Given the description of an element on the screen output the (x, y) to click on. 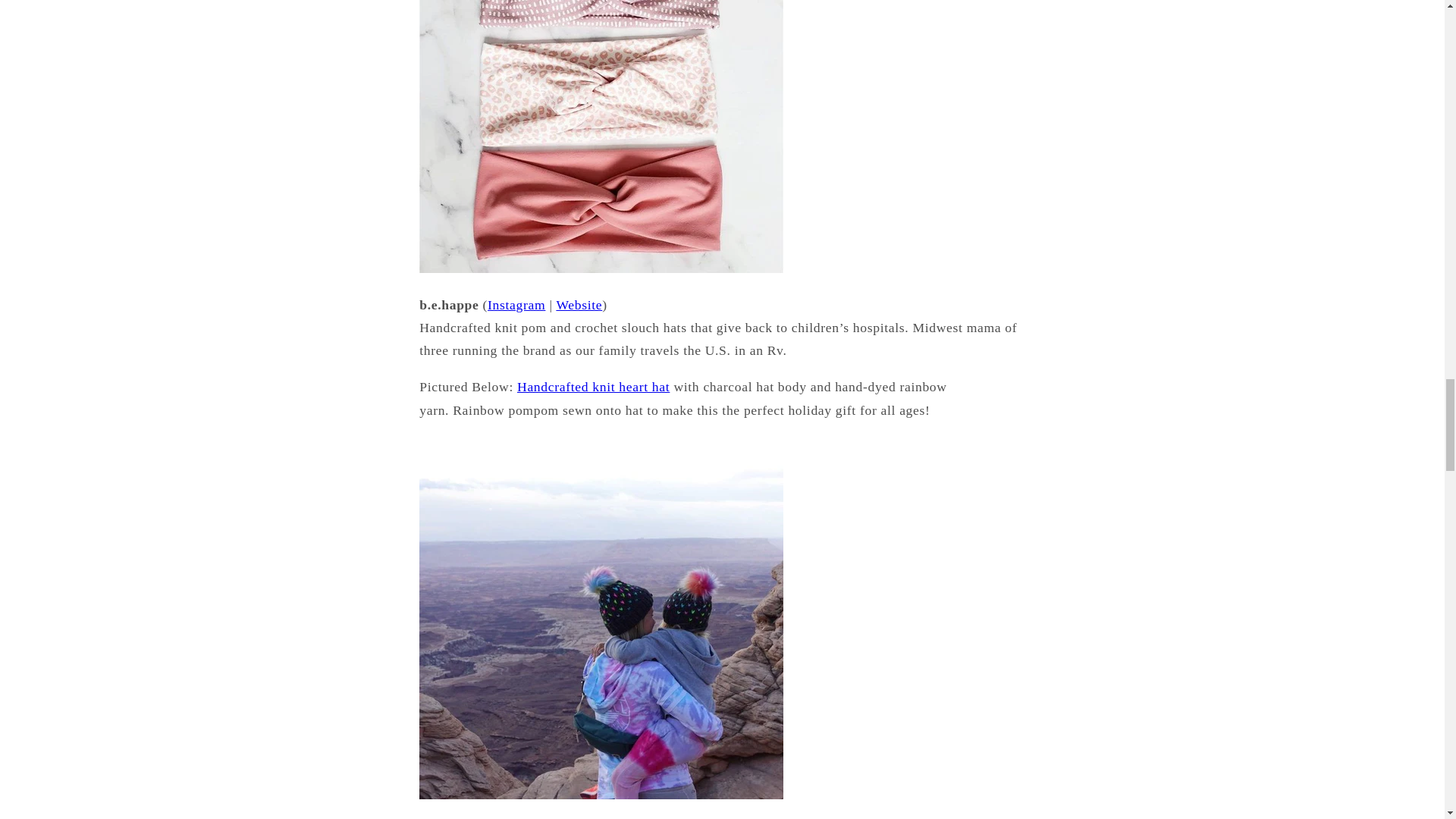
twisted headbands (601, 268)
rainbow hearts hat (592, 386)
link to instagram be happe hats (515, 304)
link to behappe shop (579, 304)
